Given the description of an element on the screen output the (x, y) to click on. 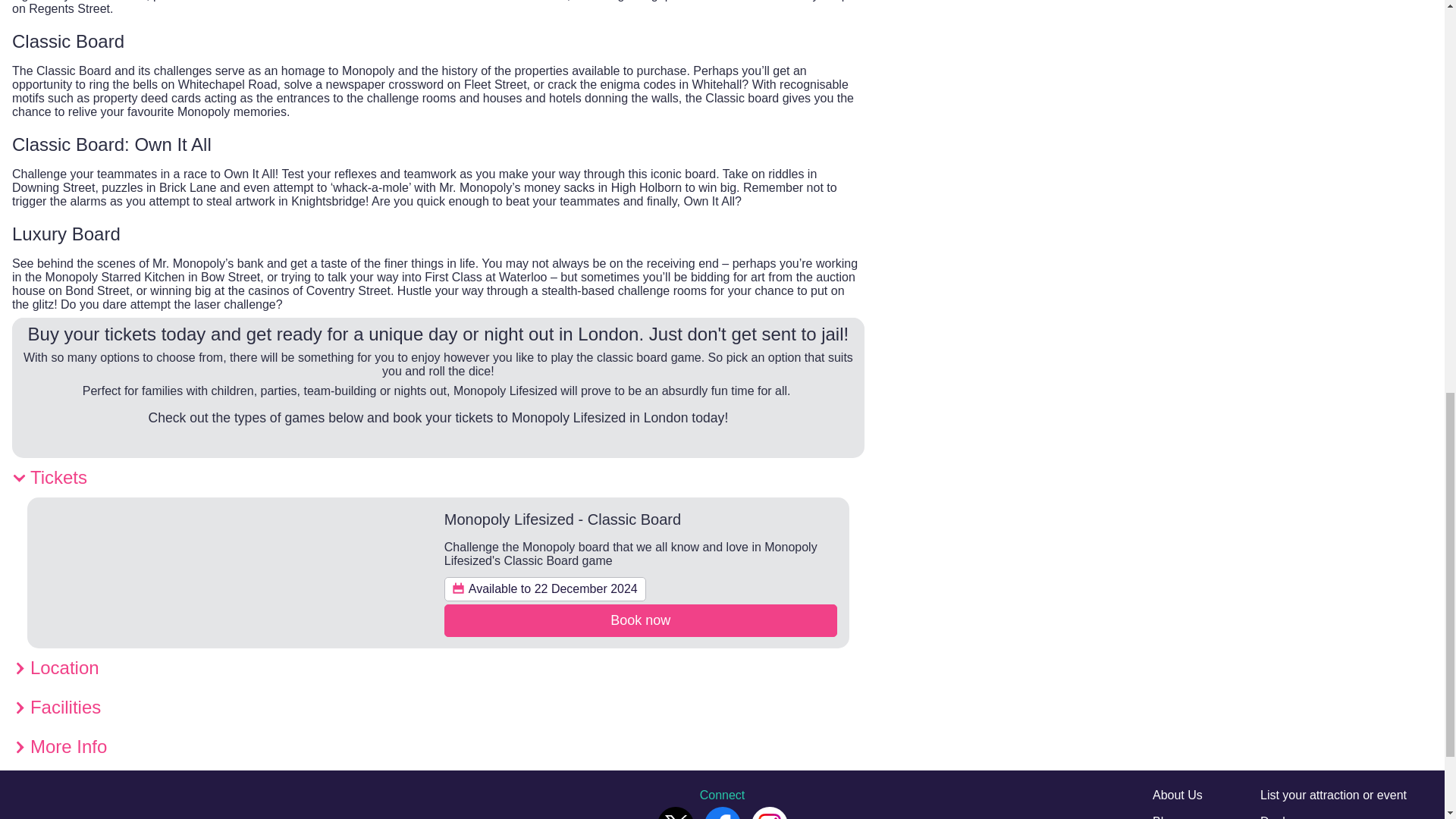
More Info (437, 746)
Location (437, 667)
Book now (640, 620)
Monopoly Lifesized - Classic Board (562, 519)
List your attraction or event (1333, 794)
Facilities (437, 707)
Tickets (437, 477)
About Us (1177, 794)
